Given the description of an element on the screen output the (x, y) to click on. 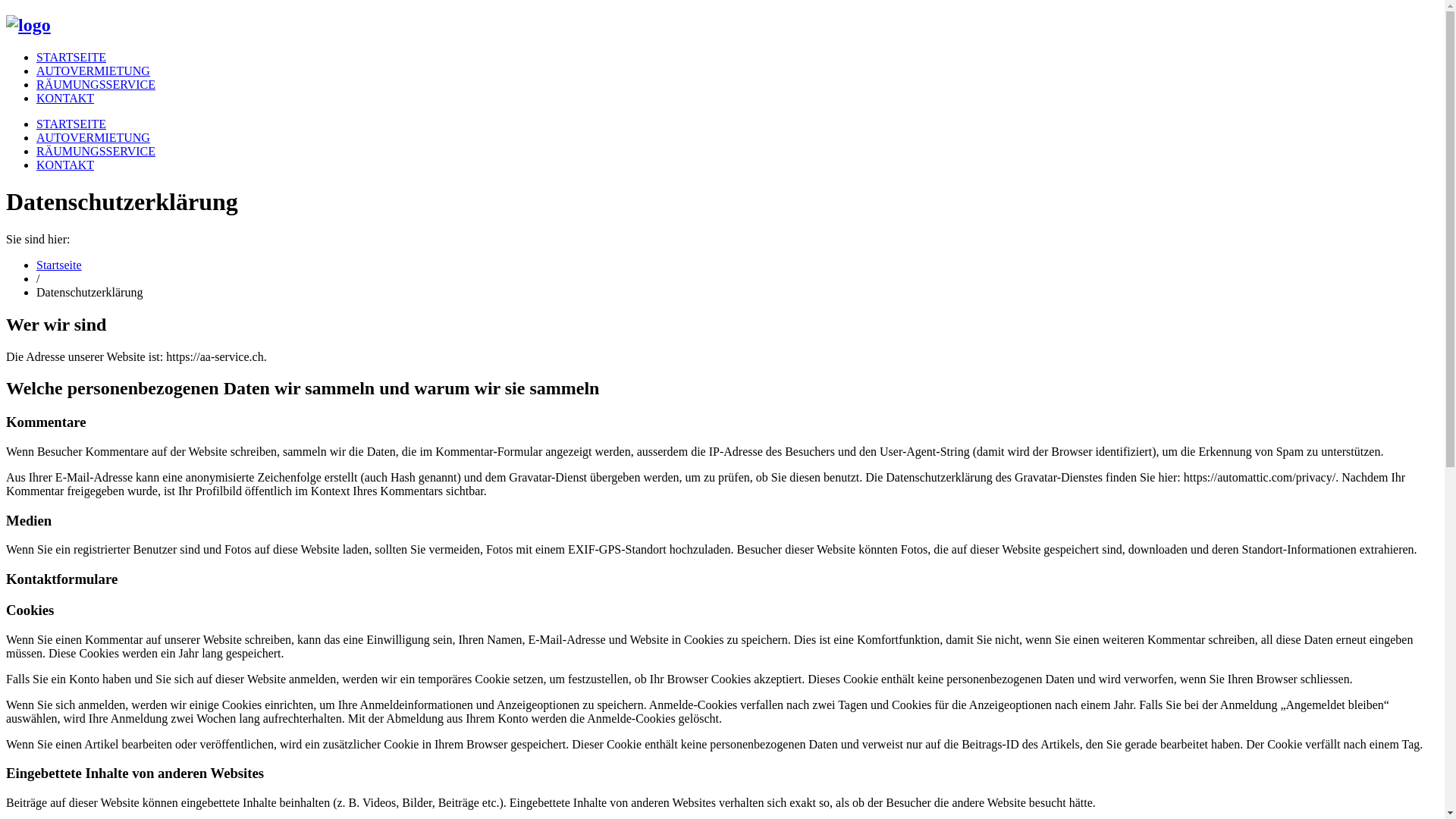
KONTAKT Element type: text (65, 97)
STARTSEITE Element type: text (71, 123)
AA Service Element type: hover (28, 24)
KONTAKT Element type: text (65, 164)
AUTOVERMIETUNG Element type: text (93, 137)
AUTOVERMIETUNG Element type: text (93, 70)
Startseite Element type: text (58, 264)
STARTSEITE Element type: text (71, 56)
